Given the description of an element on the screen output the (x, y) to click on. 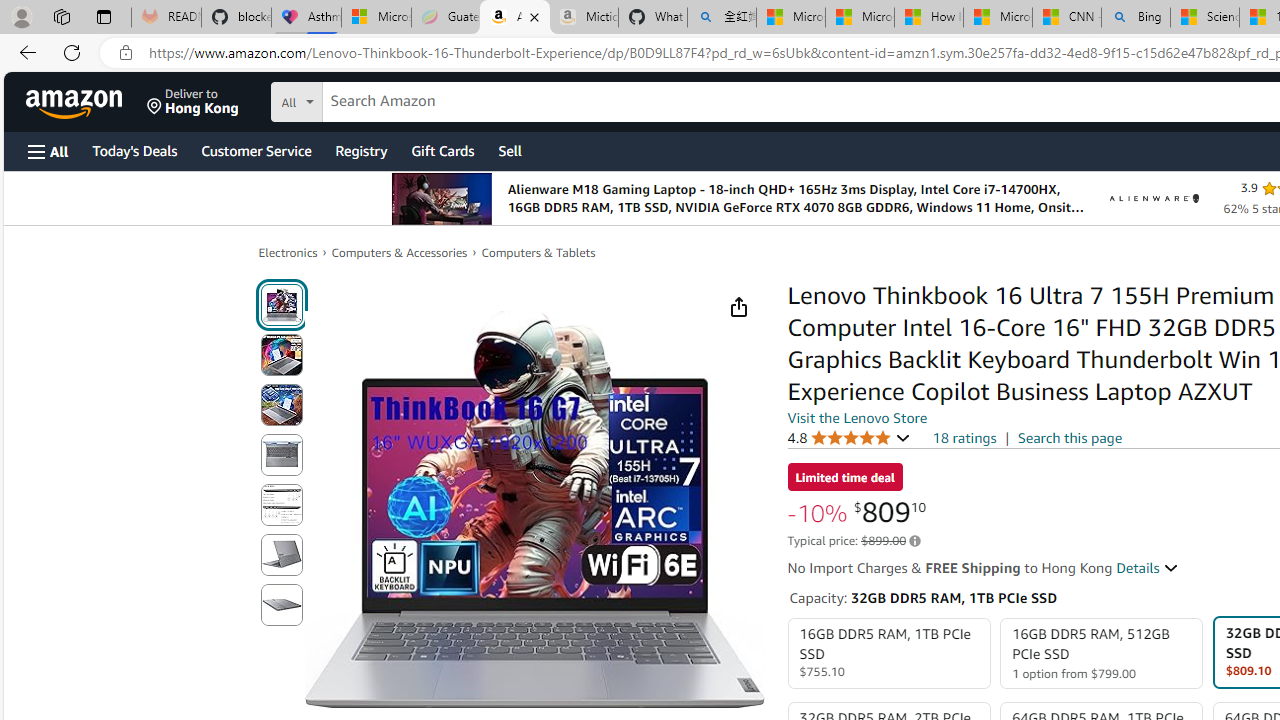
Customer Service (256, 150)
CNN - MSN (1066, 17)
Bing (1135, 17)
Registry (360, 150)
Sell (509, 150)
Details  (1148, 568)
Computers & Tablets (538, 252)
Search this page (1069, 437)
Asthma Inhalers: Names and Types (305, 17)
